Given the description of an element on the screen output the (x, y) to click on. 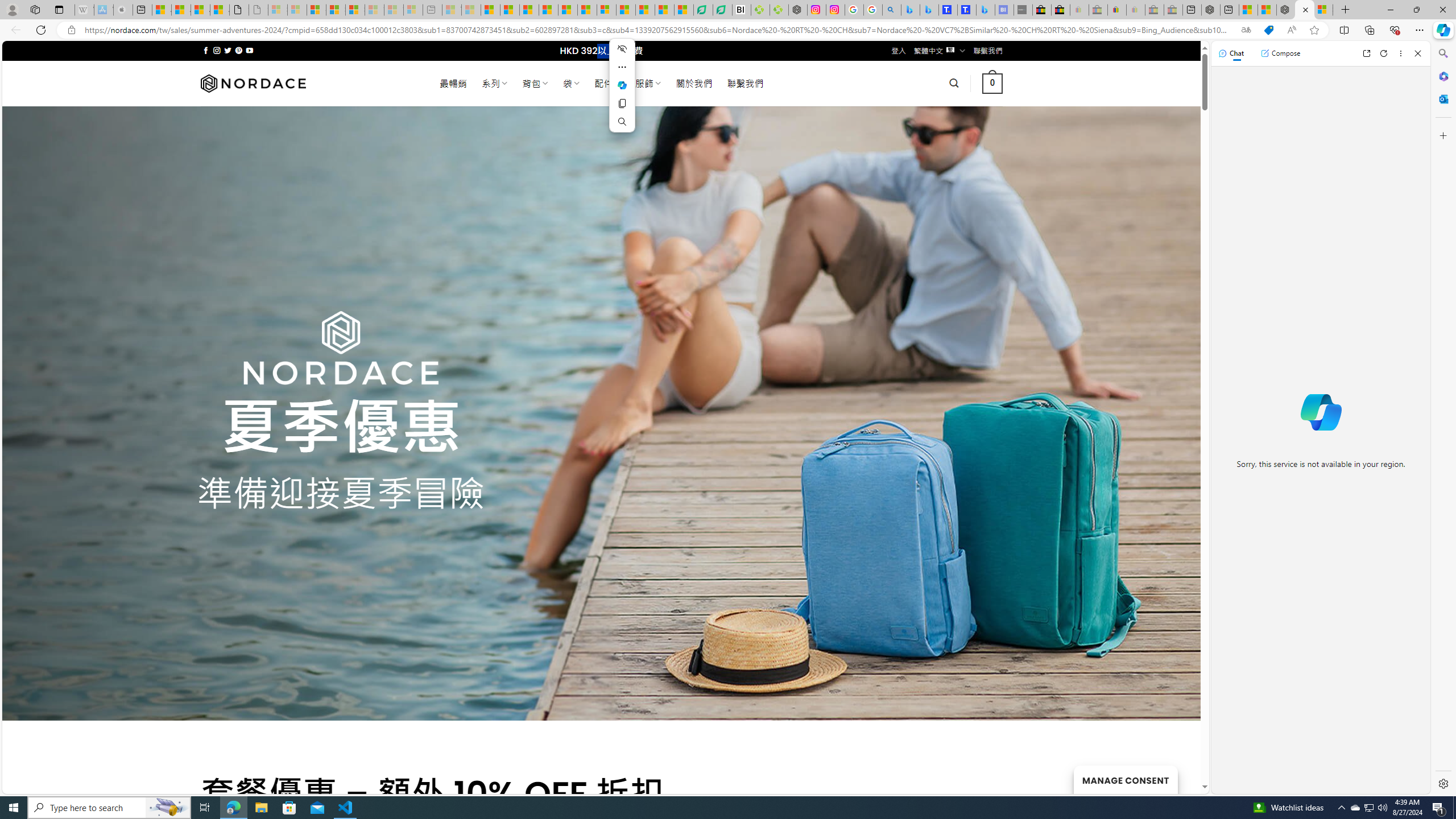
Nordace - Summer Adventures 2024 (1304, 9)
Ask Copilot (622, 85)
Show translate options (1245, 29)
Safety in Our Products - Google Safety Center (853, 9)
Drinking tea every day is proven to delay biological aging (548, 9)
Follow on Instagram (216, 50)
